Given the description of an element on the screen output the (x, y) to click on. 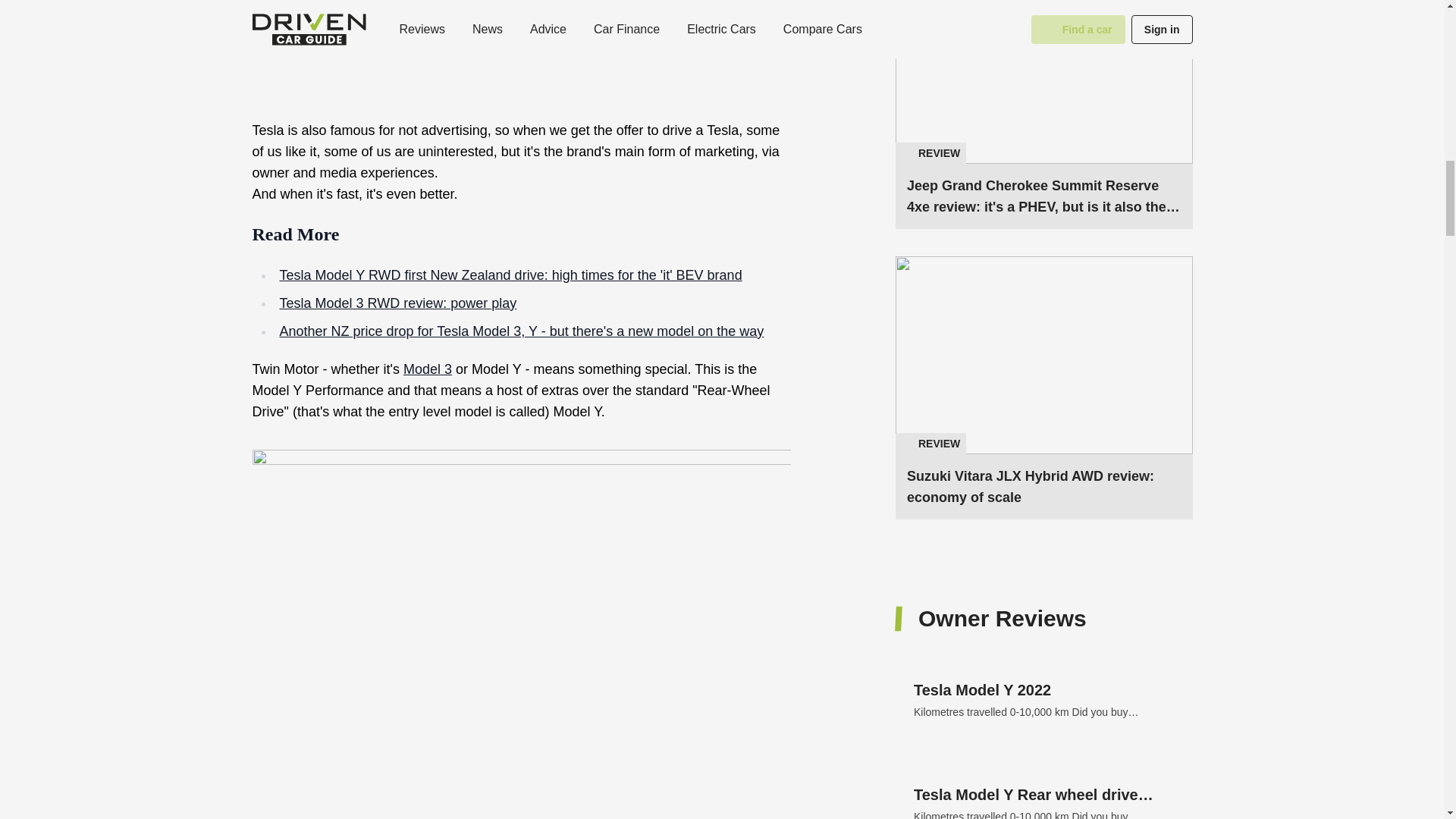
Tesla Model 3 RWD review: power play (427, 368)
